Given the description of an element on the screen output the (x, y) to click on. 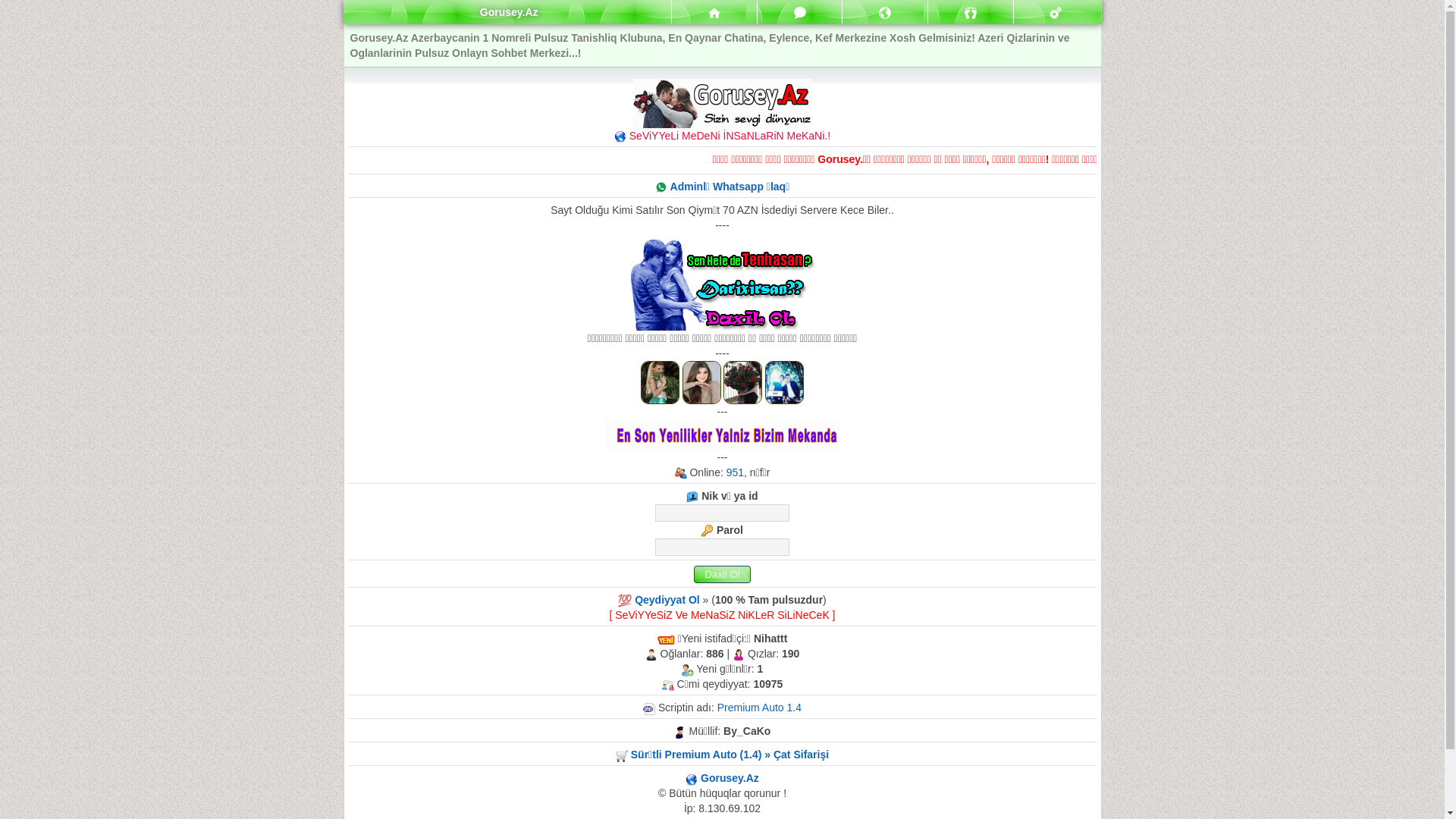
Daxil Ol Element type: text (721, 574)
nick Element type: hover (722, 512)
Parol Element type: hover (722, 546)
Bildirisler Element type: hover (884, 12)
Qonaqlar Element type: hover (970, 12)
Gorusey.Az Element type: text (729, 777)
Mesajlar Element type: hover (713, 11)
Bildirisler Element type: hover (884, 11)
Qeydiyyat Ol Element type: text (666, 599)
Qonaqlar Element type: hover (970, 11)
Mesajlar Element type: hover (799, 12)
951 Element type: text (734, 472)
Mesajlar Element type: hover (799, 11)
Ana Sehife Element type: hover (714, 12)
Premium Auto 1.4 Element type: text (759, 707)
